Given the description of an element on the screen output the (x, y) to click on. 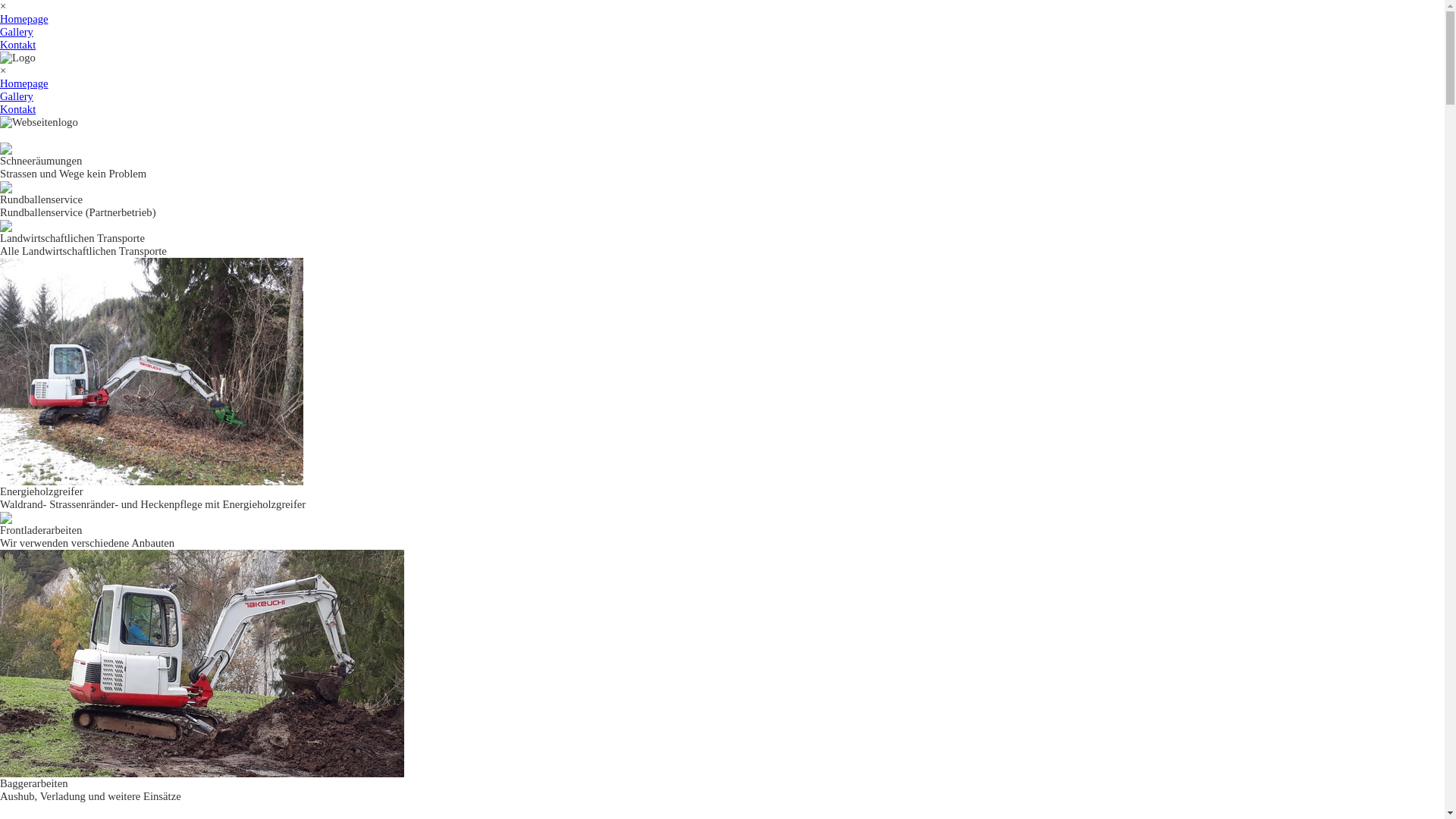
Kontakt Element type: text (17, 109)
Logo Element type: hover (17, 57)
Homepage Element type: text (23, 18)
Logo Element type: hover (39, 122)
Homepage Element type: text (23, 83)
Gallery Element type: text (16, 31)
Gallery Element type: text (16, 96)
Kontakt Element type: text (17, 44)
